Given the description of an element on the screen output the (x, y) to click on. 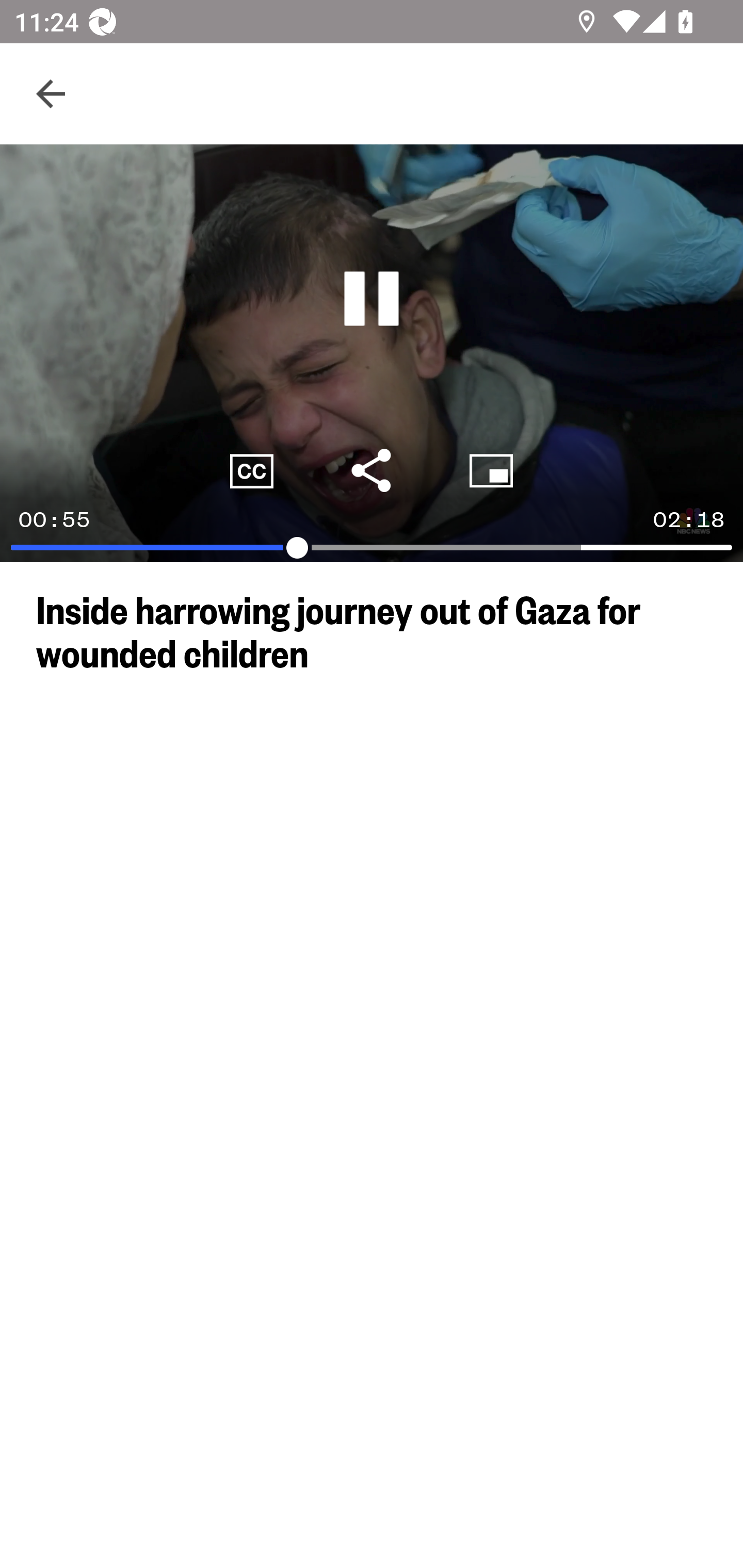
Navigate up (50, 93)
Pause (371, 298)
Closed Captions, ON (251, 470)
Share Media (371, 470)
Picture in Picture Media (490, 470)
